Given the description of an element on the screen output the (x, y) to click on. 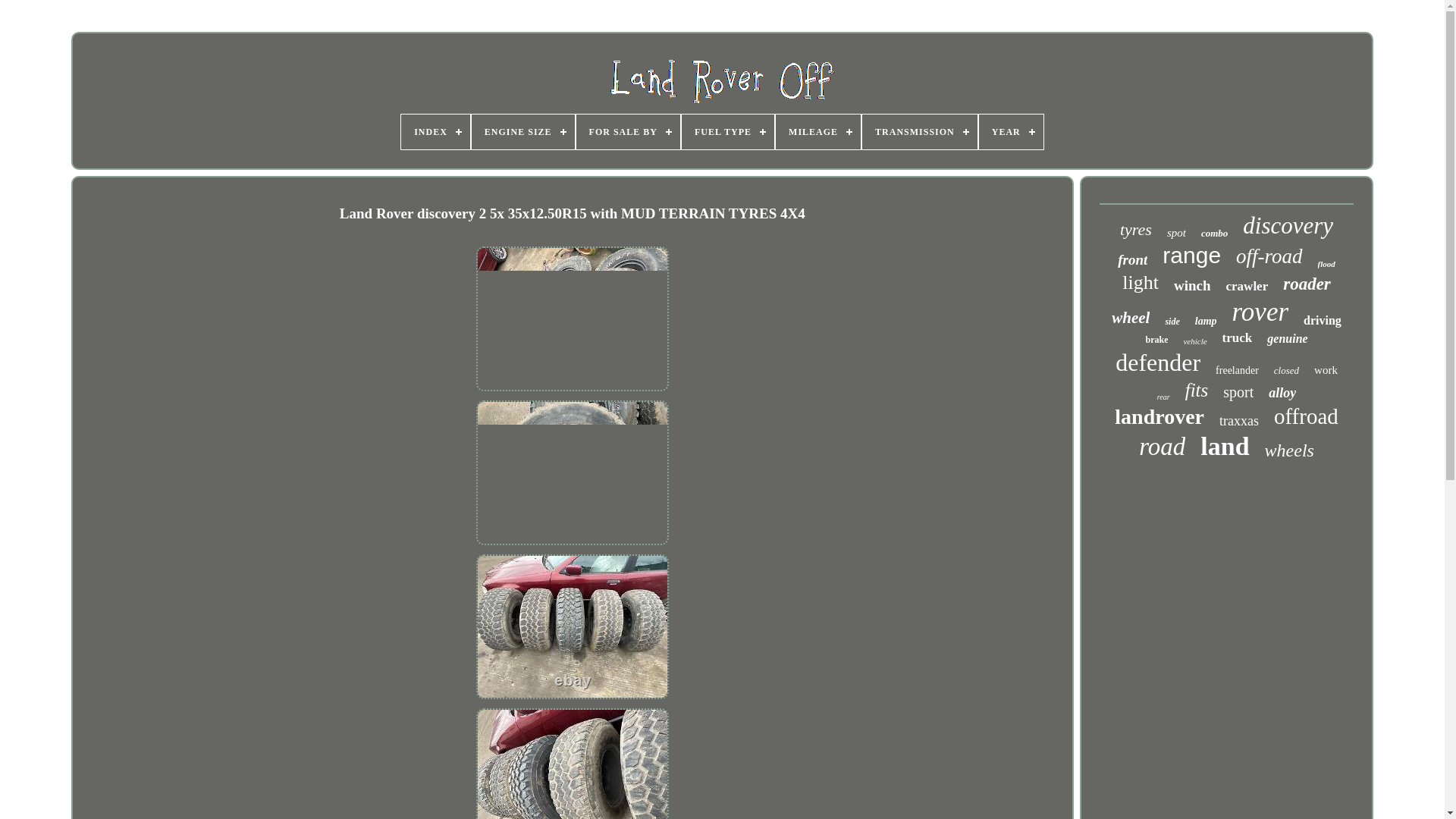
FOR SALE BY (627, 131)
MILEAGE (818, 131)
INDEX (435, 131)
ENGINE SIZE (523, 131)
FUEL TYPE (727, 131)
